Given the description of an element on the screen output the (x, y) to click on. 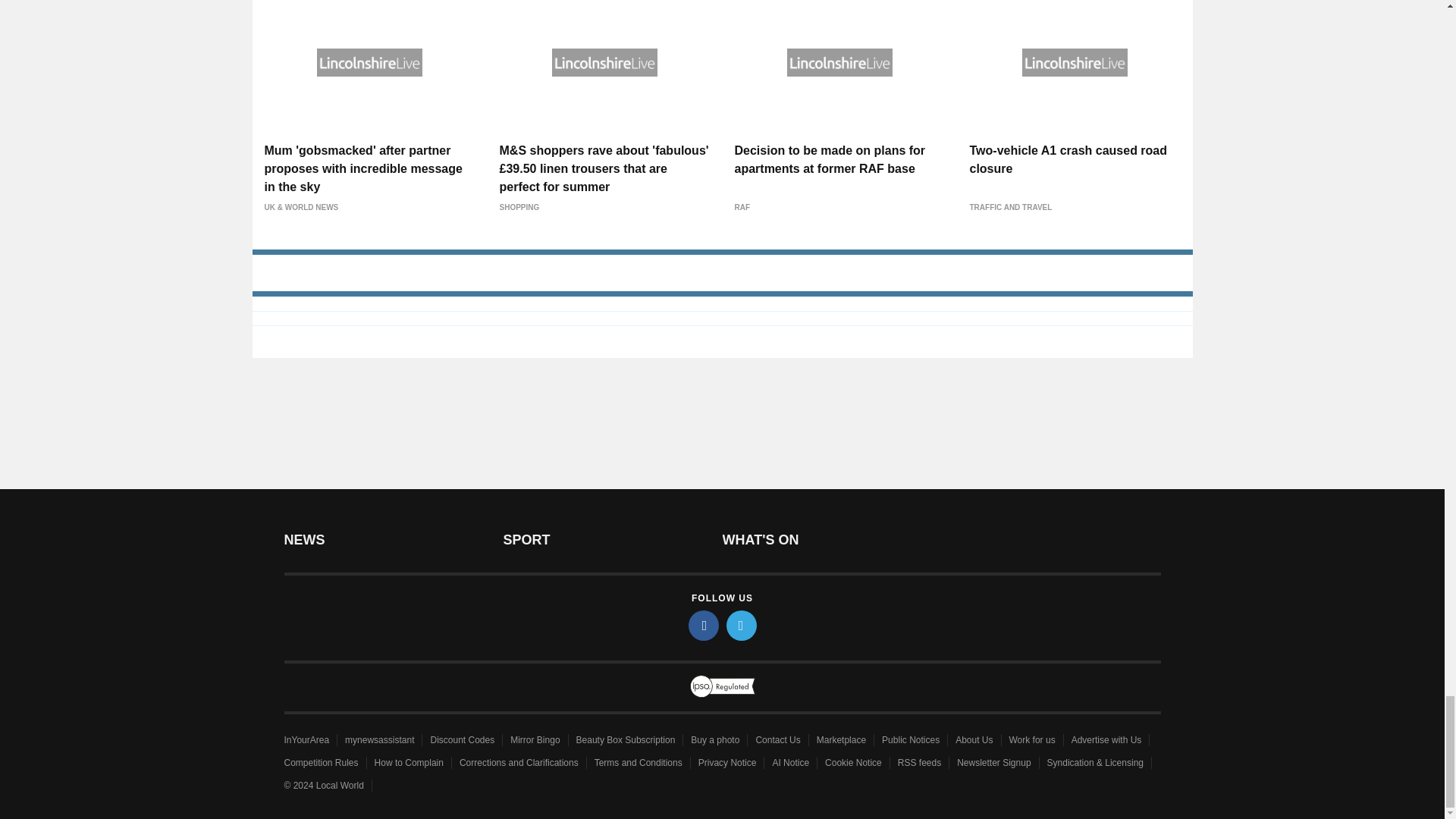
twitter (741, 625)
facebook (703, 625)
